Given the description of an element on the screen output the (x, y) to click on. 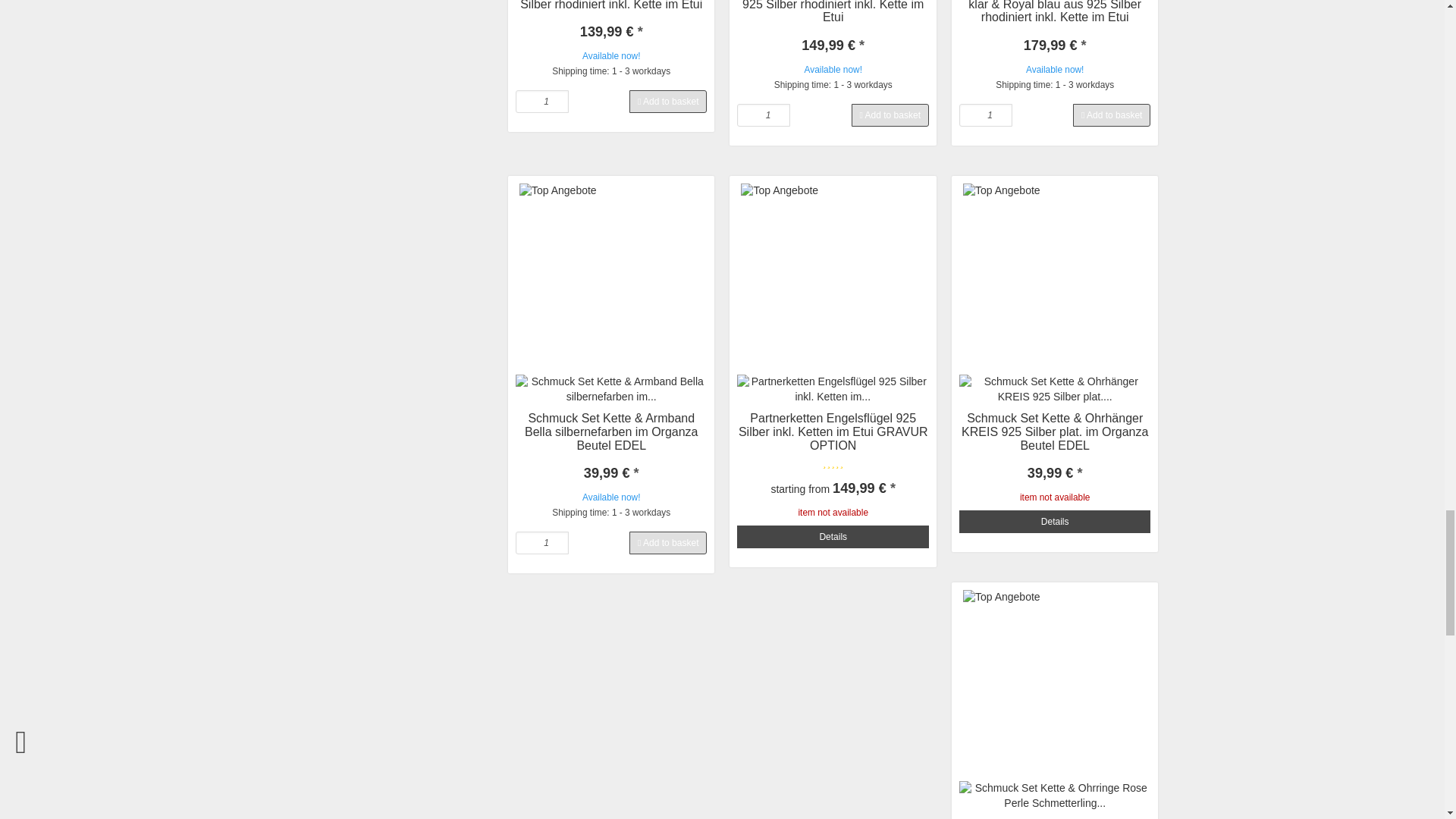
1 (542, 101)
1 (542, 542)
1 (985, 115)
1 (763, 115)
